Given the description of an element on the screen output the (x, y) to click on. 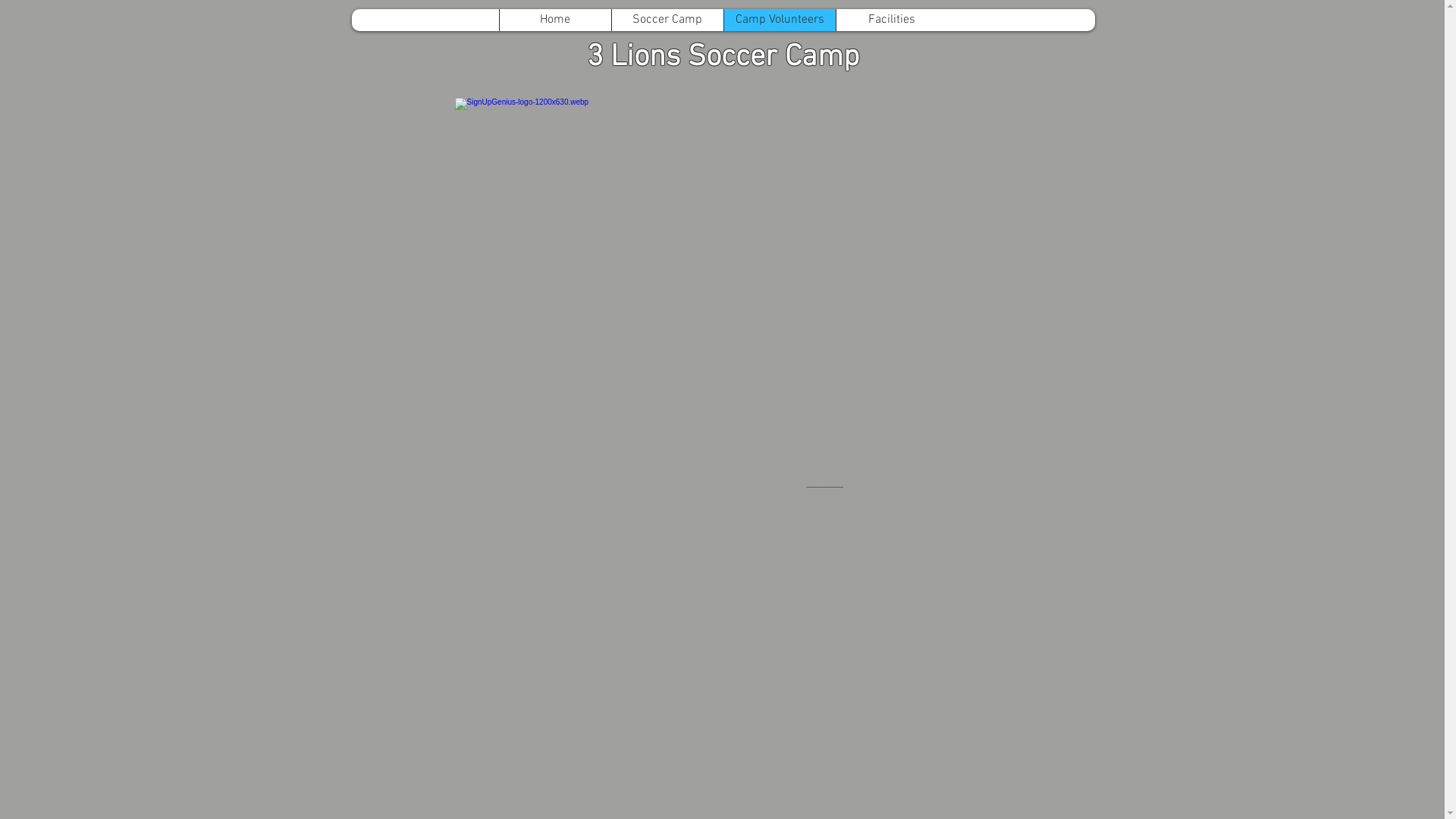
Facilities Element type: text (891, 20)
Camp Volunteers Element type: text (779, 20)
Wix.com Element type: text (824, 482)
Home Element type: text (554, 20)
Soccer Camp Element type: text (667, 20)
